Given the description of an element on the screen output the (x, y) to click on. 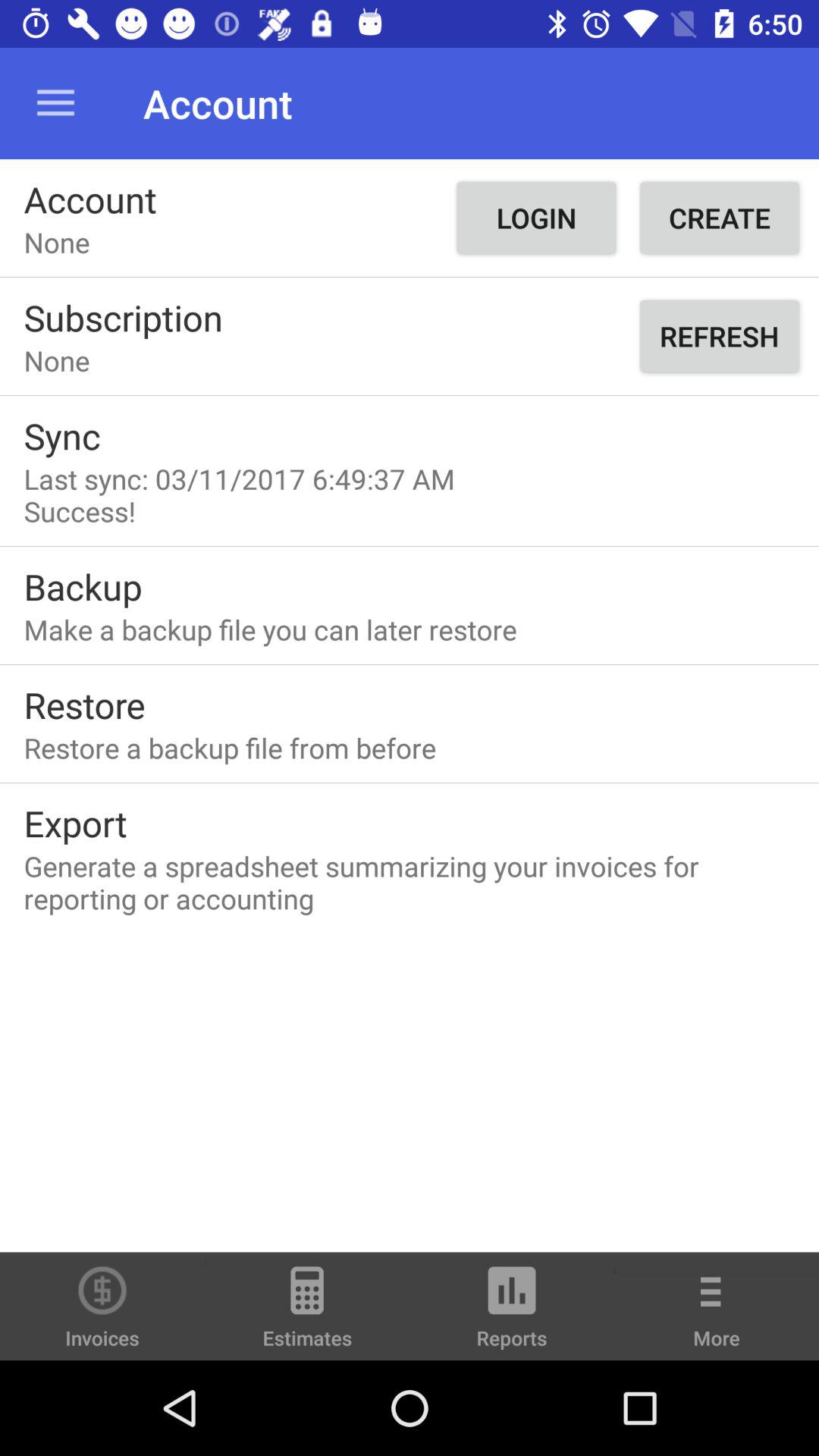
click item to the left of the more item (511, 1313)
